Given the description of an element on the screen output the (x, y) to click on. 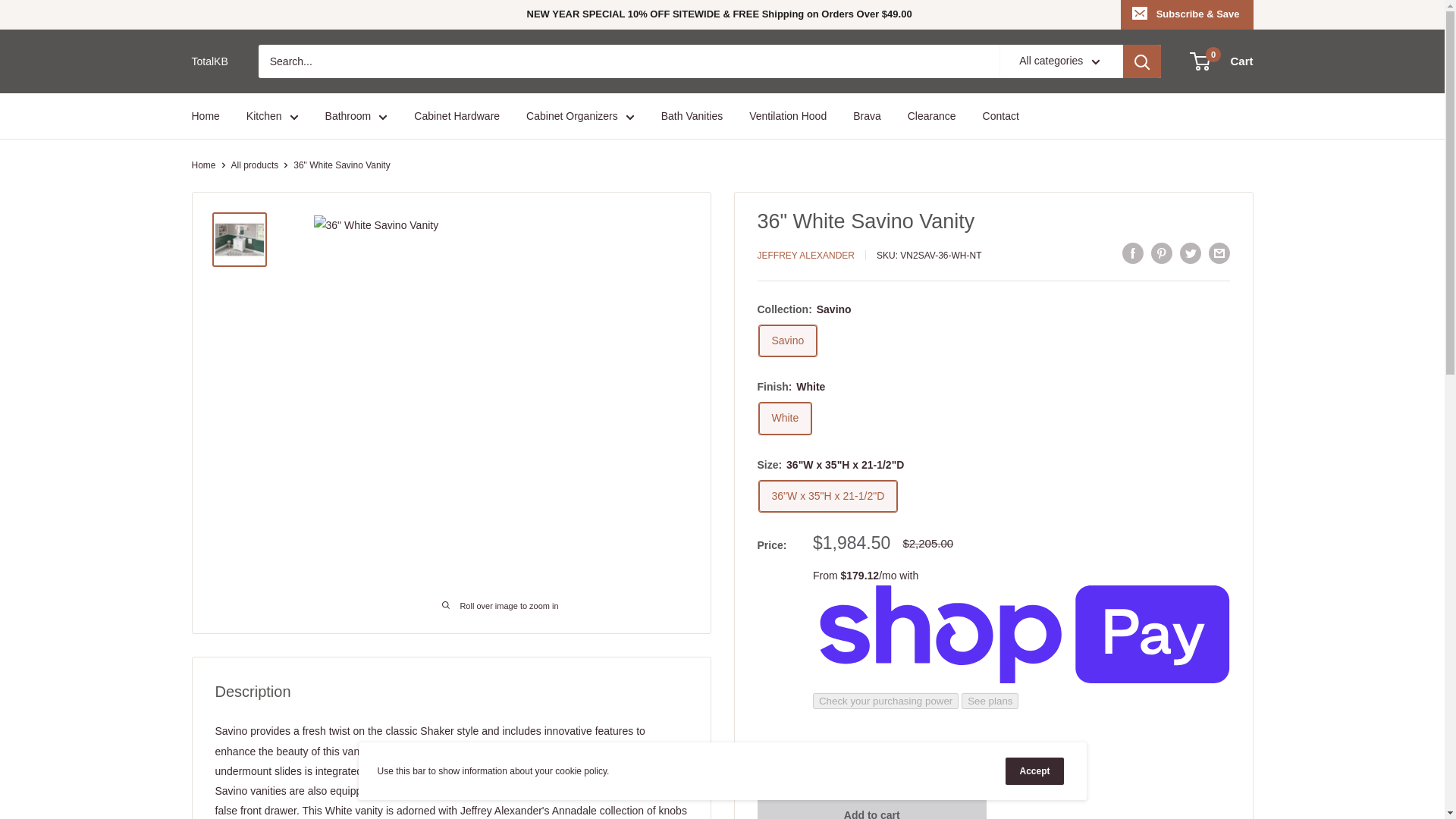
1 (869, 758)
Decrease quantity by 1 (829, 758)
Savino (787, 340)
White (784, 418)
Increase quantity by 1 (909, 758)
